Given the description of an element on the screen output the (x, y) to click on. 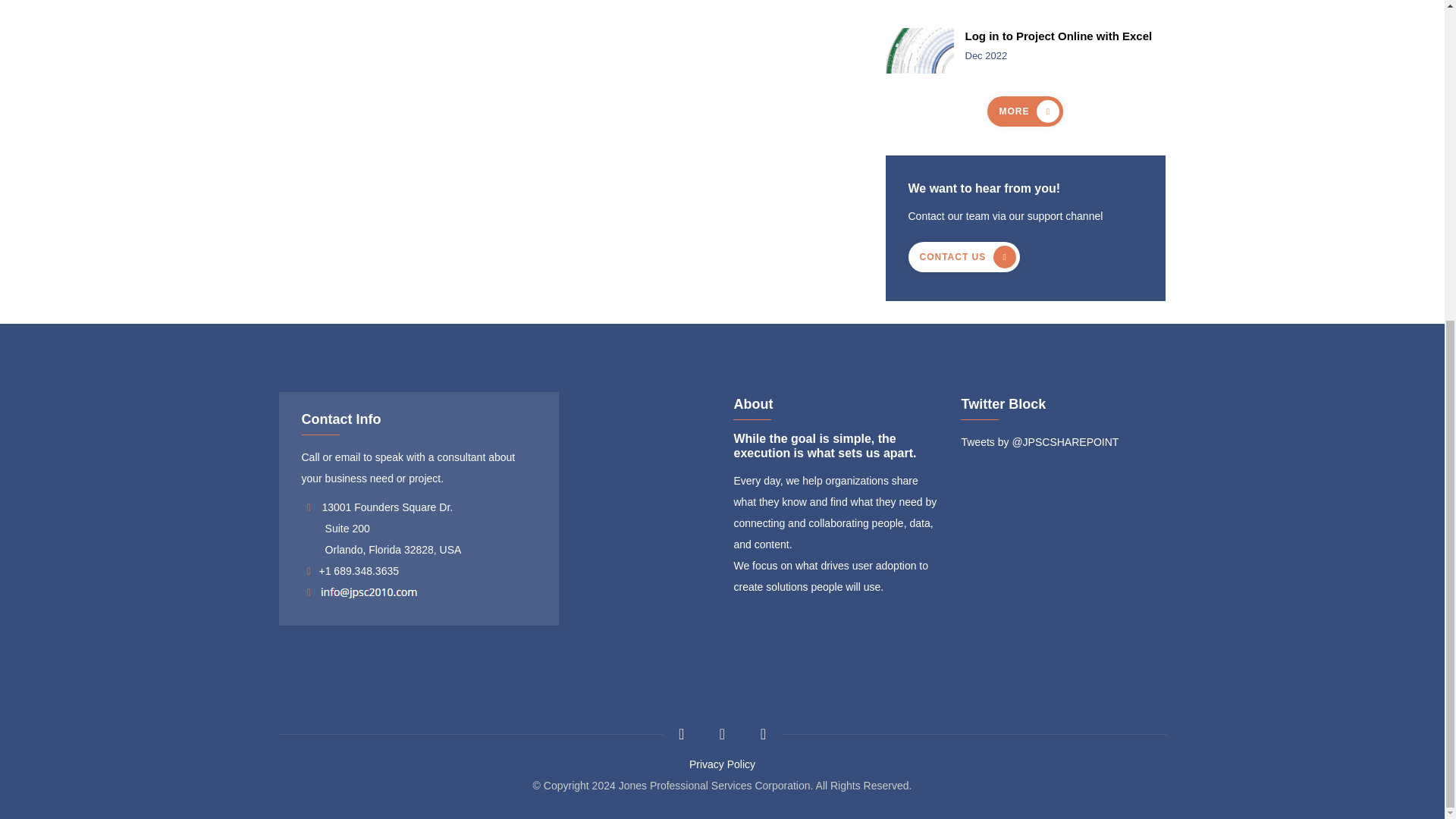
Log in to Project Online with Excel (1064, 36)
MORE (1024, 111)
CONTACT US (964, 256)
Privacy Policy (721, 764)
